Given the description of an element on the screen output the (x, y) to click on. 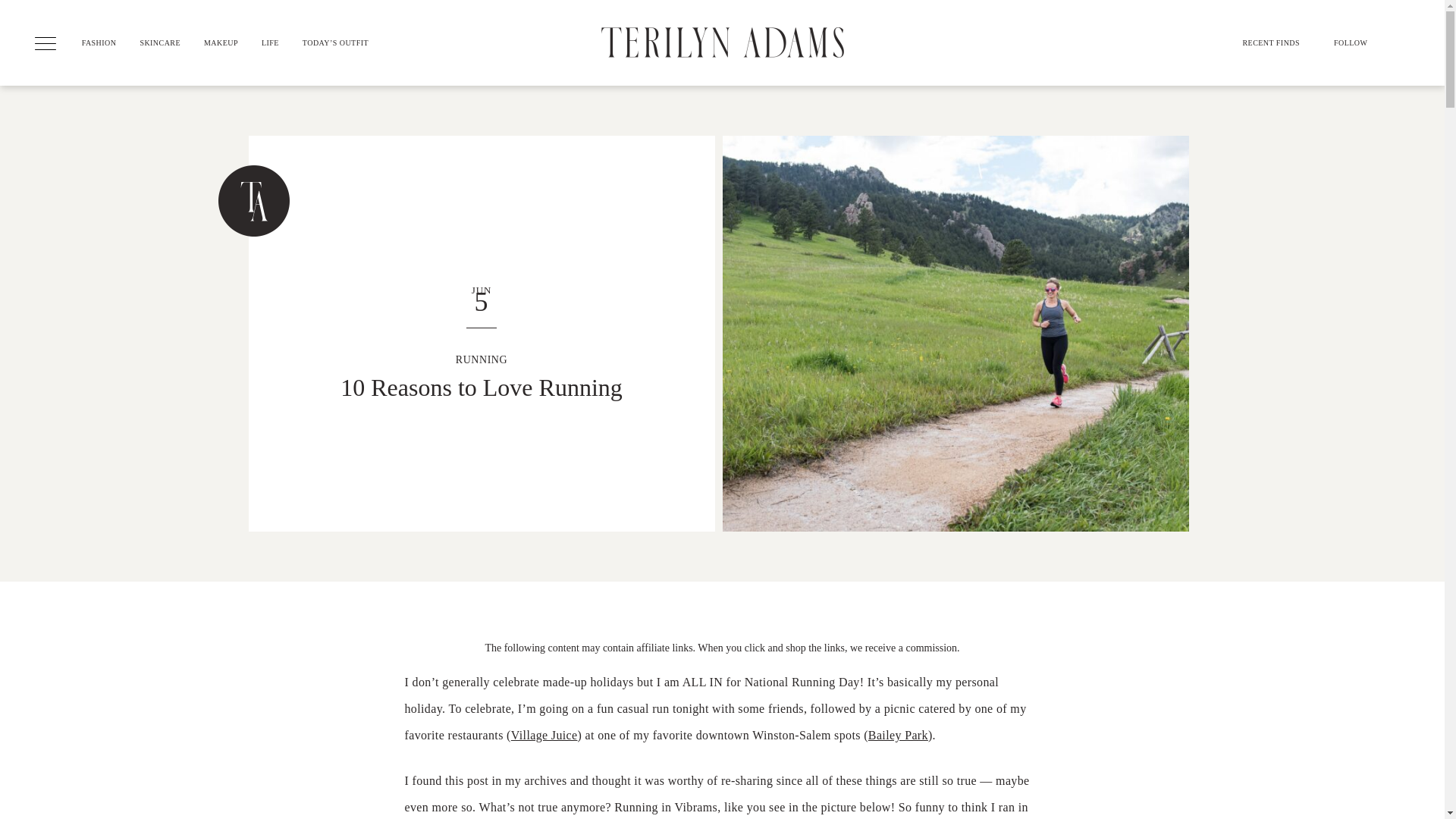
SKINCARE (171, 60)
FASHION (110, 60)
